Given the description of an element on the screen output the (x, y) to click on. 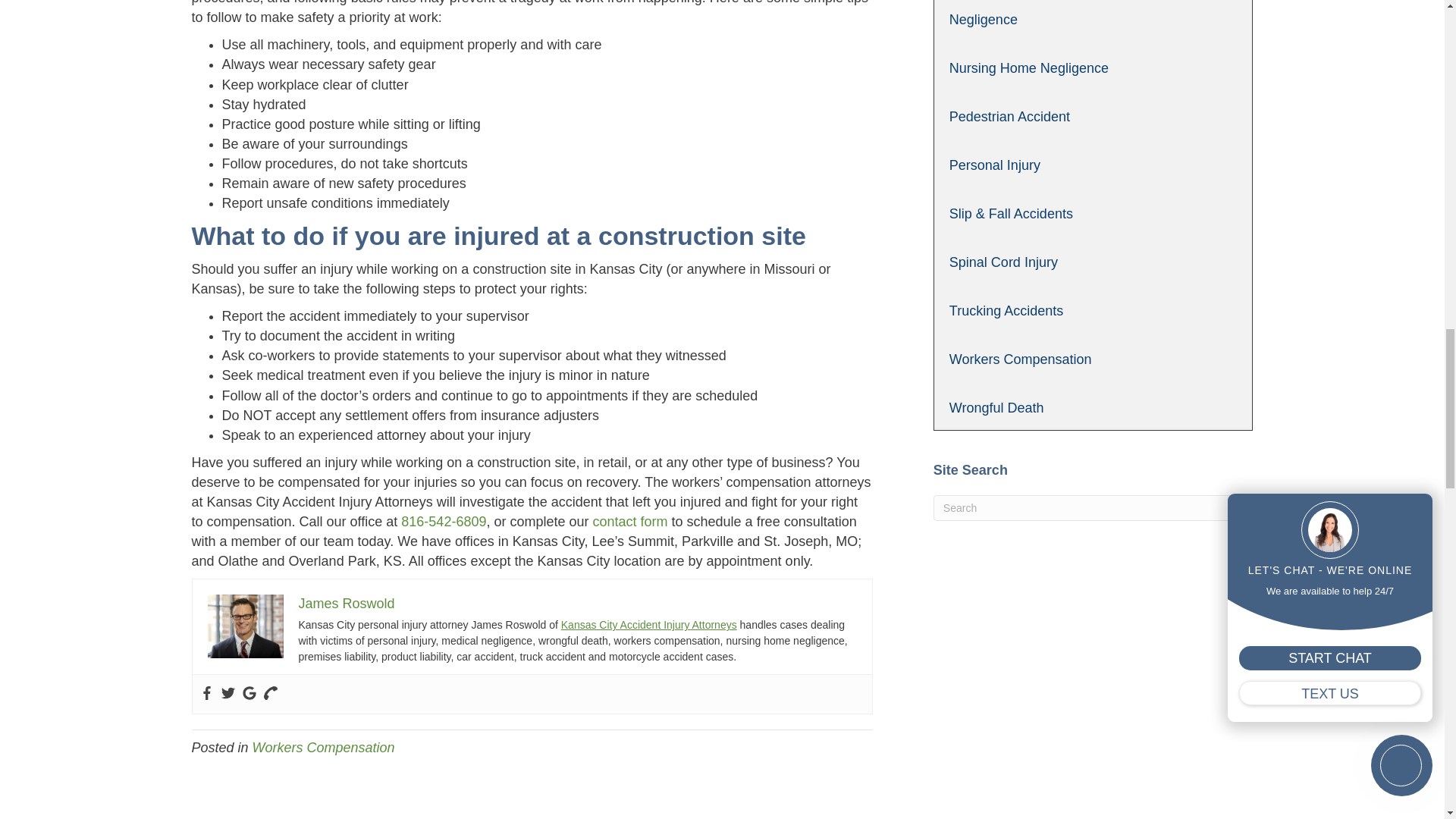
Type and press Enter to search. (1093, 507)
